Given the description of an element on the screen output the (x, y) to click on. 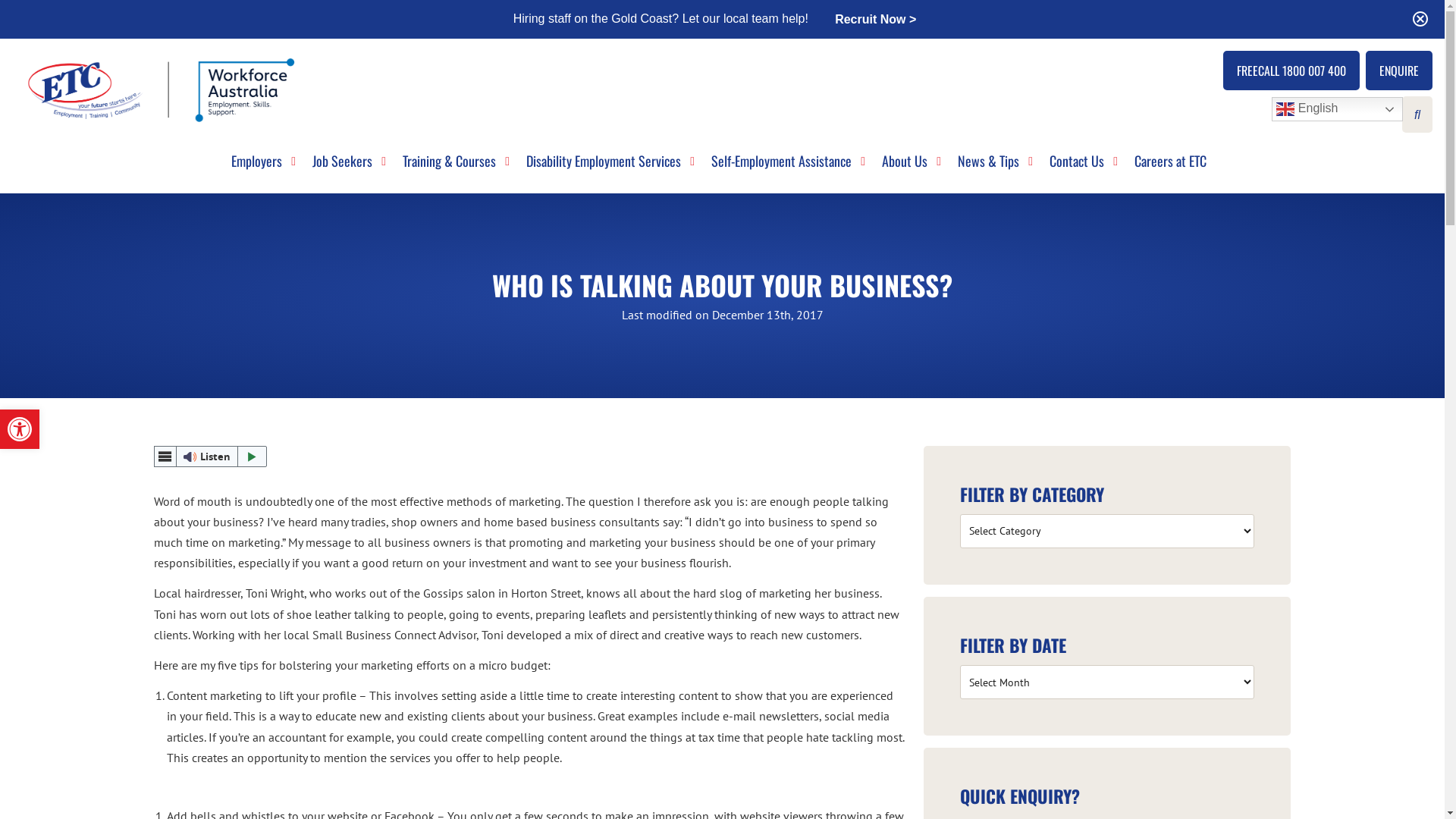
Employers Element type: text (256, 168)
Training & Courses Element type: text (448, 168)
Careers at ETC Element type: text (1170, 168)
Disability Employment Services Element type: text (603, 168)
Self-Employment Assistance Element type: text (781, 168)
ENQUIRE Element type: text (1398, 70)
English Element type: text (1336, 109)
About Us Element type: text (904, 168)
Listen Element type: text (209, 456)
Job Seekers Element type: text (342, 168)
ETC Employment & Training Element type: hover (163, 89)
Recruit Now > Element type: text (875, 18)
Contact Us Element type: text (1076, 168)
FREECALL 1800 007 400 Element type: text (1291, 70)
Open toolbar
Accessibility Tools Element type: text (19, 428)
webReader menu Element type: hover (164, 456)
News & Tips Element type: text (988, 168)
